Given the description of an element on the screen output the (x, y) to click on. 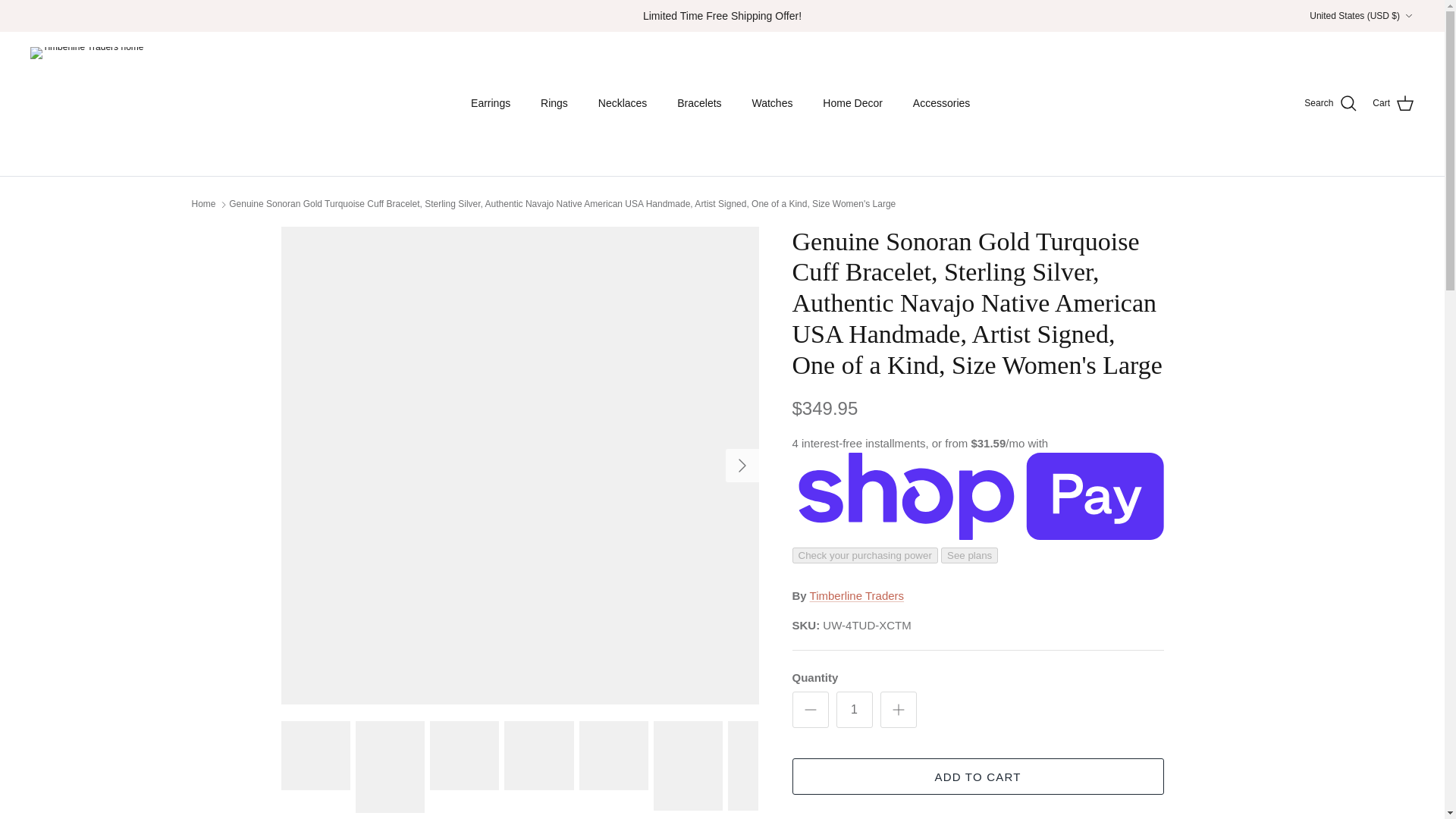
RIGHT (741, 465)
1 (853, 709)
Plus (897, 710)
Down (1408, 15)
Minus (809, 710)
Timberline Traders (87, 103)
